Given the description of an element on the screen output the (x, y) to click on. 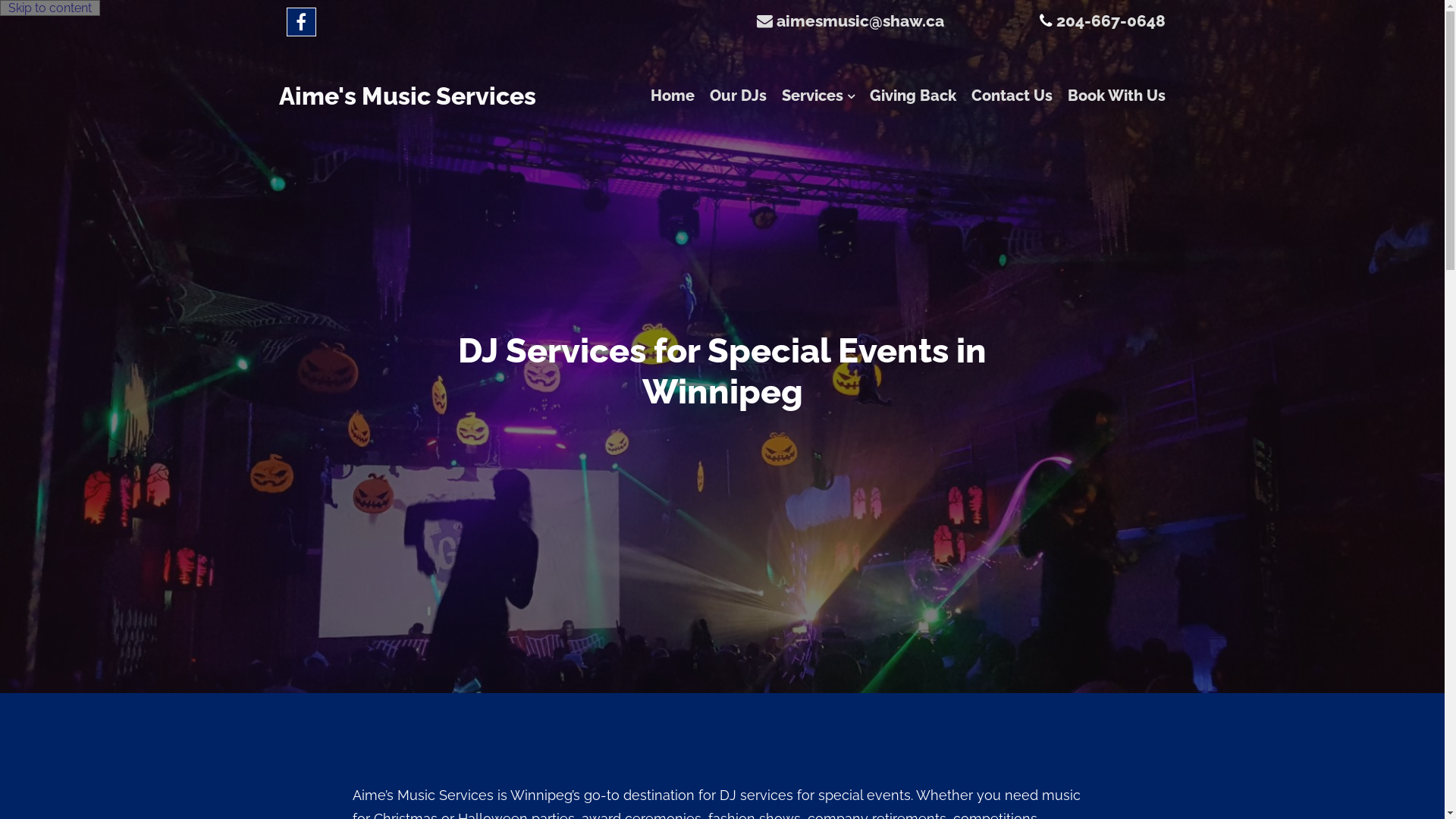
204-667-0648 Element type: text (1110, 20)
Contact Us Element type: text (1004, 95)
Our DJs Element type: text (730, 95)
Giving Back Element type: text (905, 95)
Home Element type: text (664, 95)
Aime's Music Services Element type: text (407, 95)
Book With Us Element type: text (1108, 95)
Services Element type: text (810, 95)
